Given the description of an element on the screen output the (x, y) to click on. 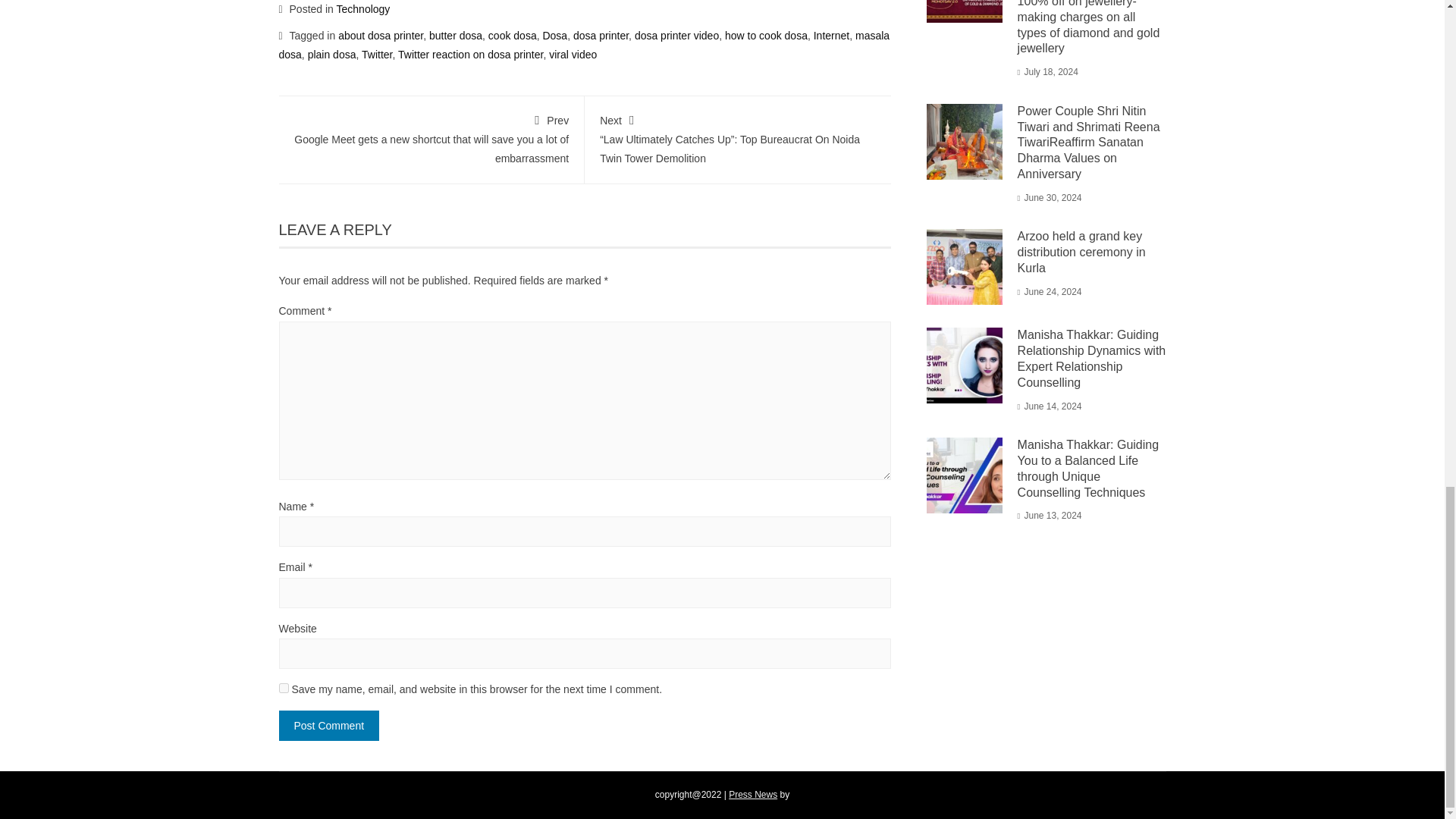
Post Comment (329, 725)
Internet (830, 35)
plain dosa (331, 54)
masala dosa (584, 44)
about dosa printer (380, 35)
Twitter reaction on dosa printer (470, 54)
yes (283, 687)
Dosa (554, 35)
cook dosa (512, 35)
Technology (363, 9)
Twitter (376, 54)
viral video (572, 54)
how to cook dosa (766, 35)
Post Comment (329, 725)
Download Press News (753, 794)
